Given the description of an element on the screen output the (x, y) to click on. 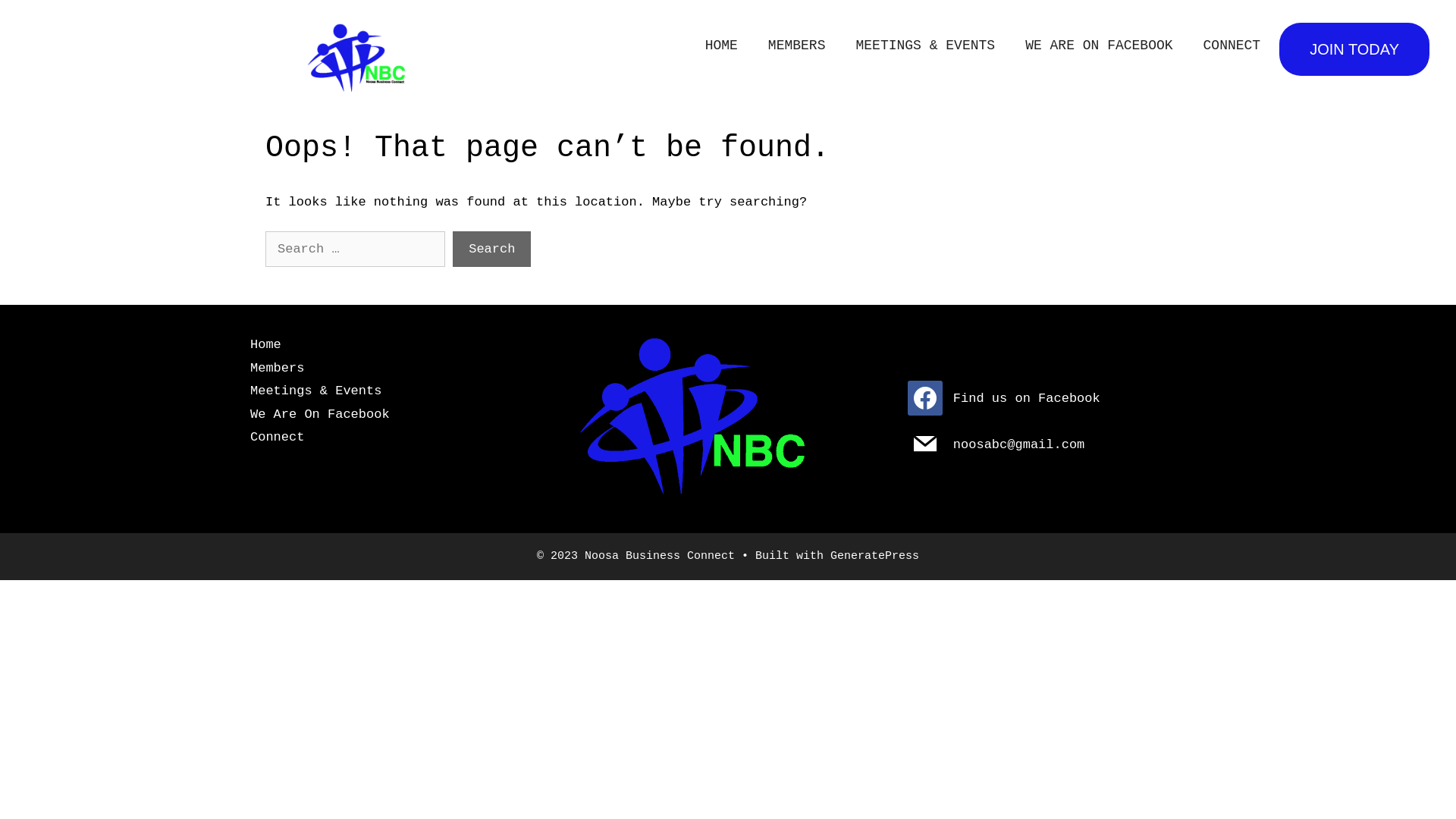
CONNECT Element type: text (1232, 45)
GeneratePress Element type: text (874, 555)
noosabc@gmail.com Element type: text (996, 444)
Meetings & Events Element type: text (315, 390)
JOIN TODAY Element type: text (1354, 48)
Home Element type: text (265, 344)
WE ARE ON FACEBOOK Element type: text (1098, 45)
Members Element type: text (277, 367)
Connect Element type: text (277, 436)
MEETINGS & EVENTS Element type: text (925, 45)
We Are On Facebook Element type: text (319, 414)
MEMBERS Element type: text (796, 45)
Search Element type: text (491, 249)
Find us on Facebook Element type: text (1003, 398)
HOME Element type: text (721, 45)
